Given the description of an element on the screen output the (x, y) to click on. 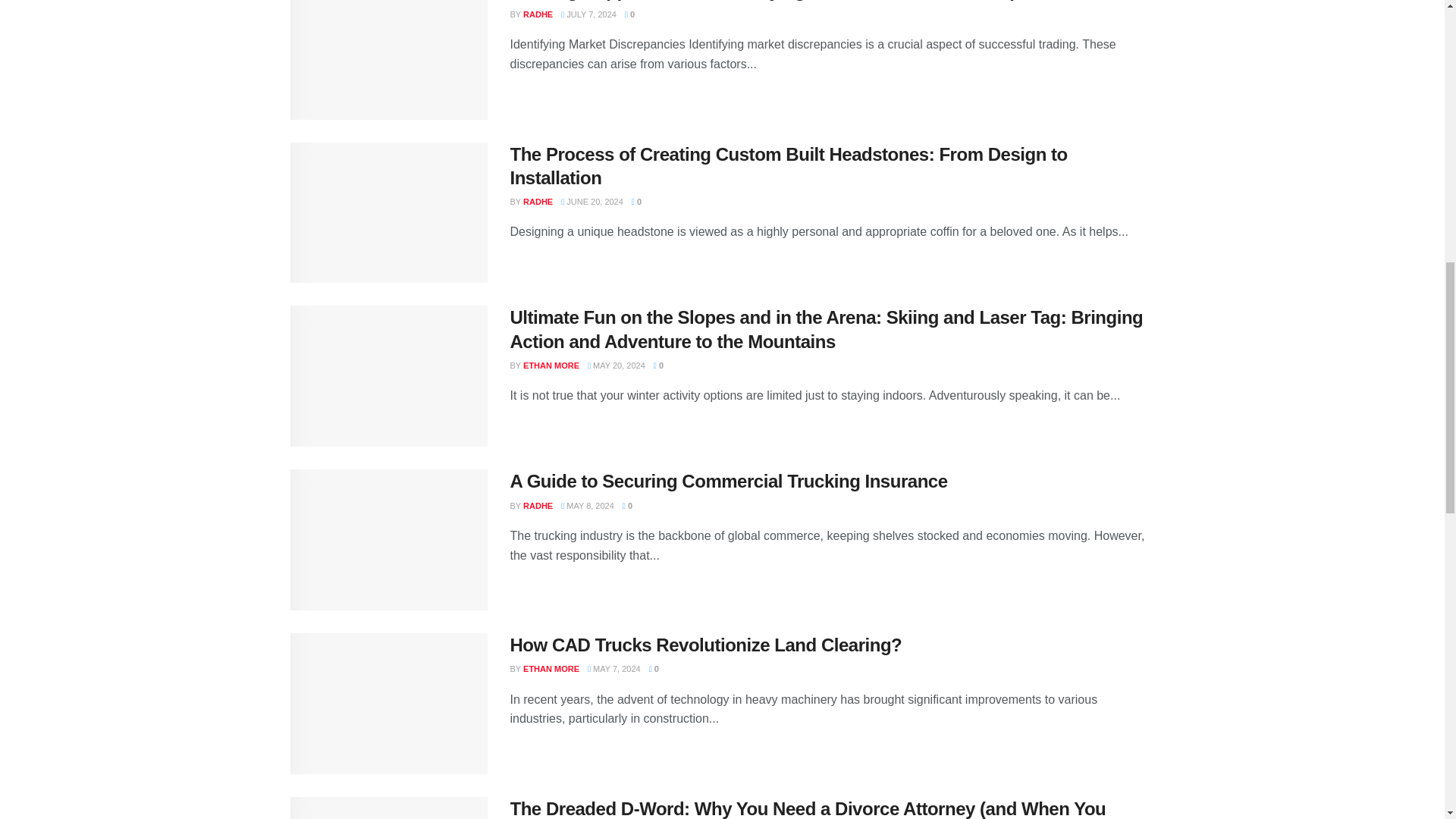
0 (629, 13)
RADHE (537, 201)
RADHE (537, 13)
JULY 7, 2024 (587, 13)
